Given the description of an element on the screen output the (x, y) to click on. 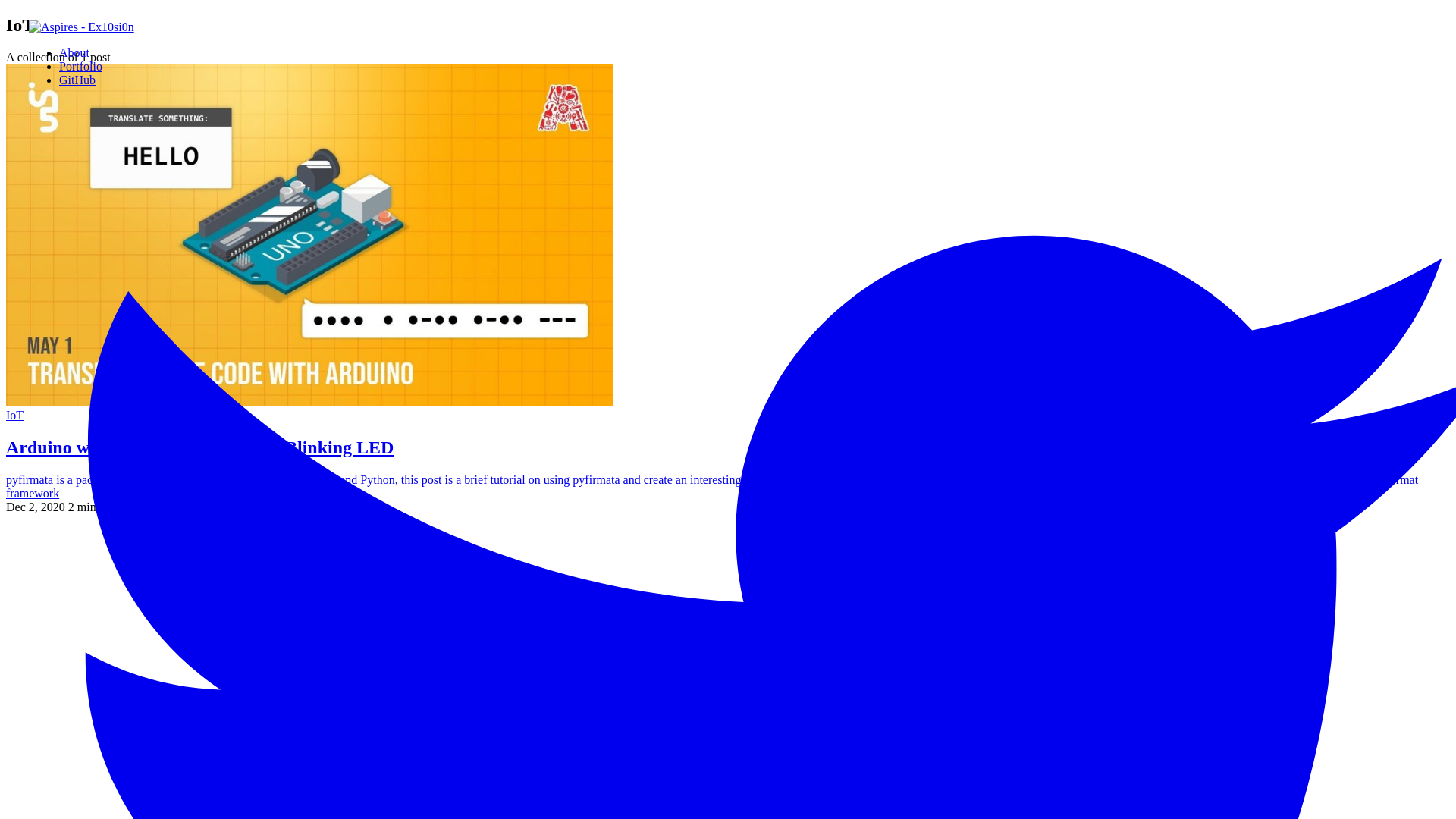
GitHub Element type: text (77, 79)
Portfolio Element type: text (80, 65)
About Element type: text (74, 52)
